Given the description of an element on the screen output the (x, y) to click on. 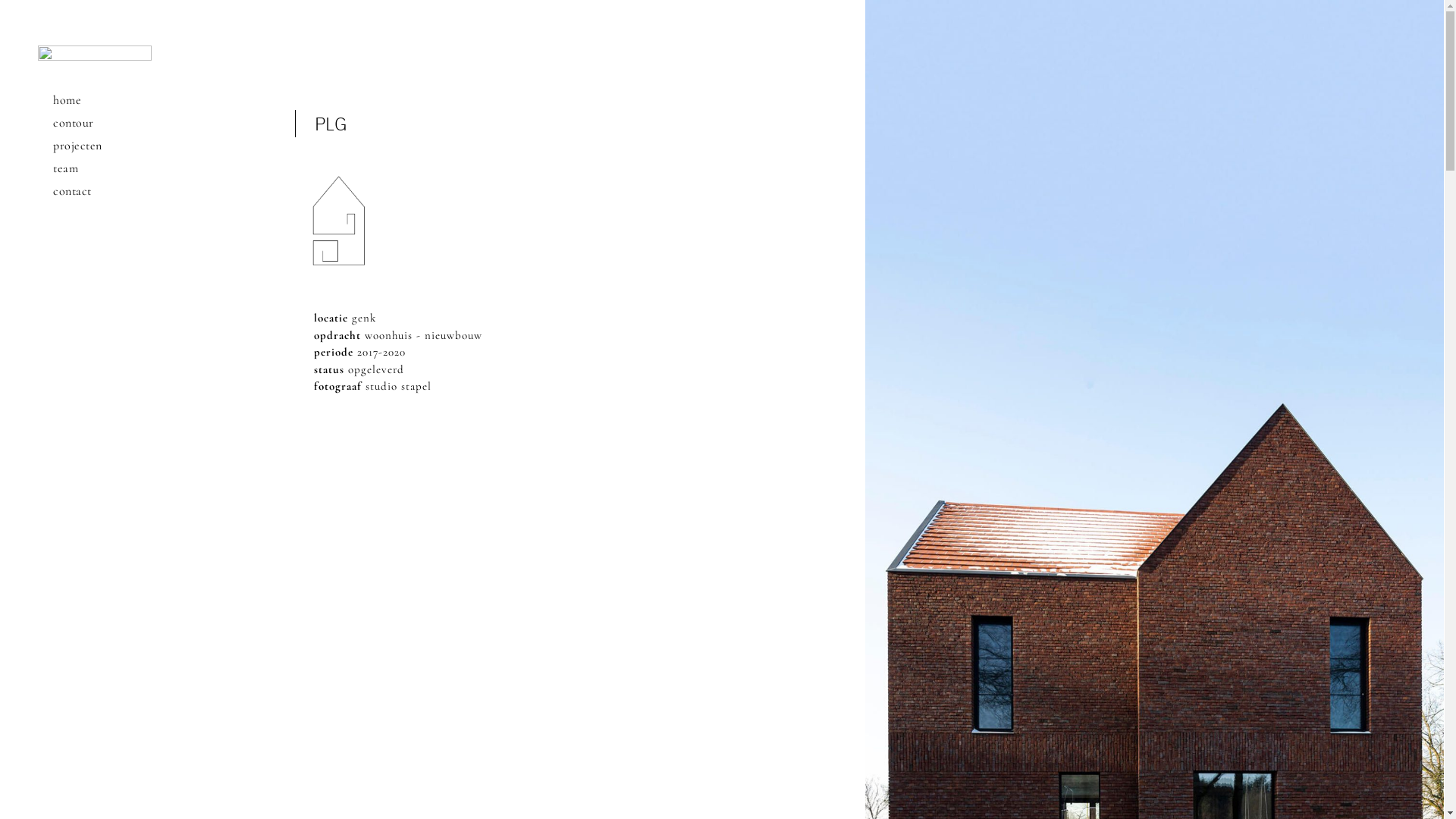
projecten Element type: text (94, 145)
contact Element type: text (94, 190)
team Element type: text (94, 167)
contour Element type: text (94, 122)
home Element type: text (94, 99)
